Given the description of an element on the screen output the (x, y) to click on. 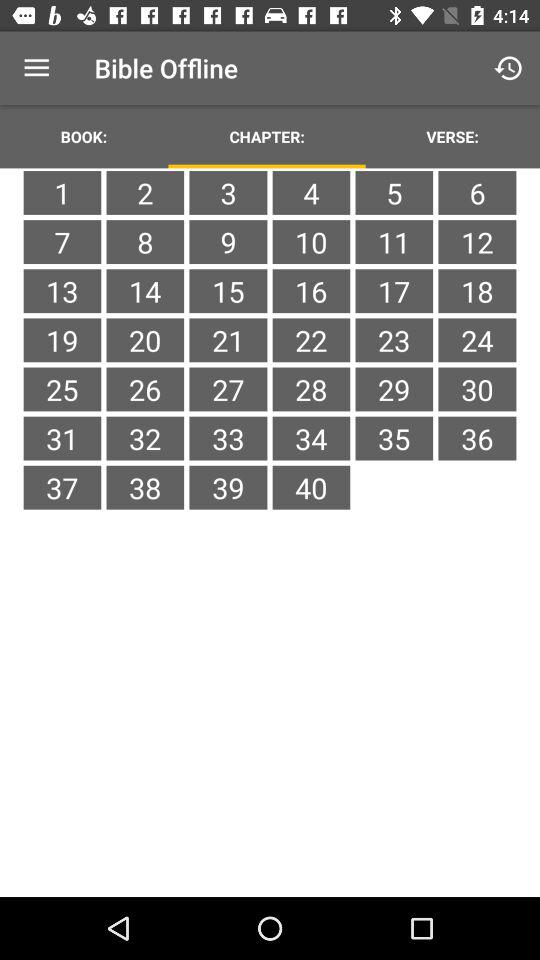
click item above 39 (311, 438)
